Given the description of an element on the screen output the (x, y) to click on. 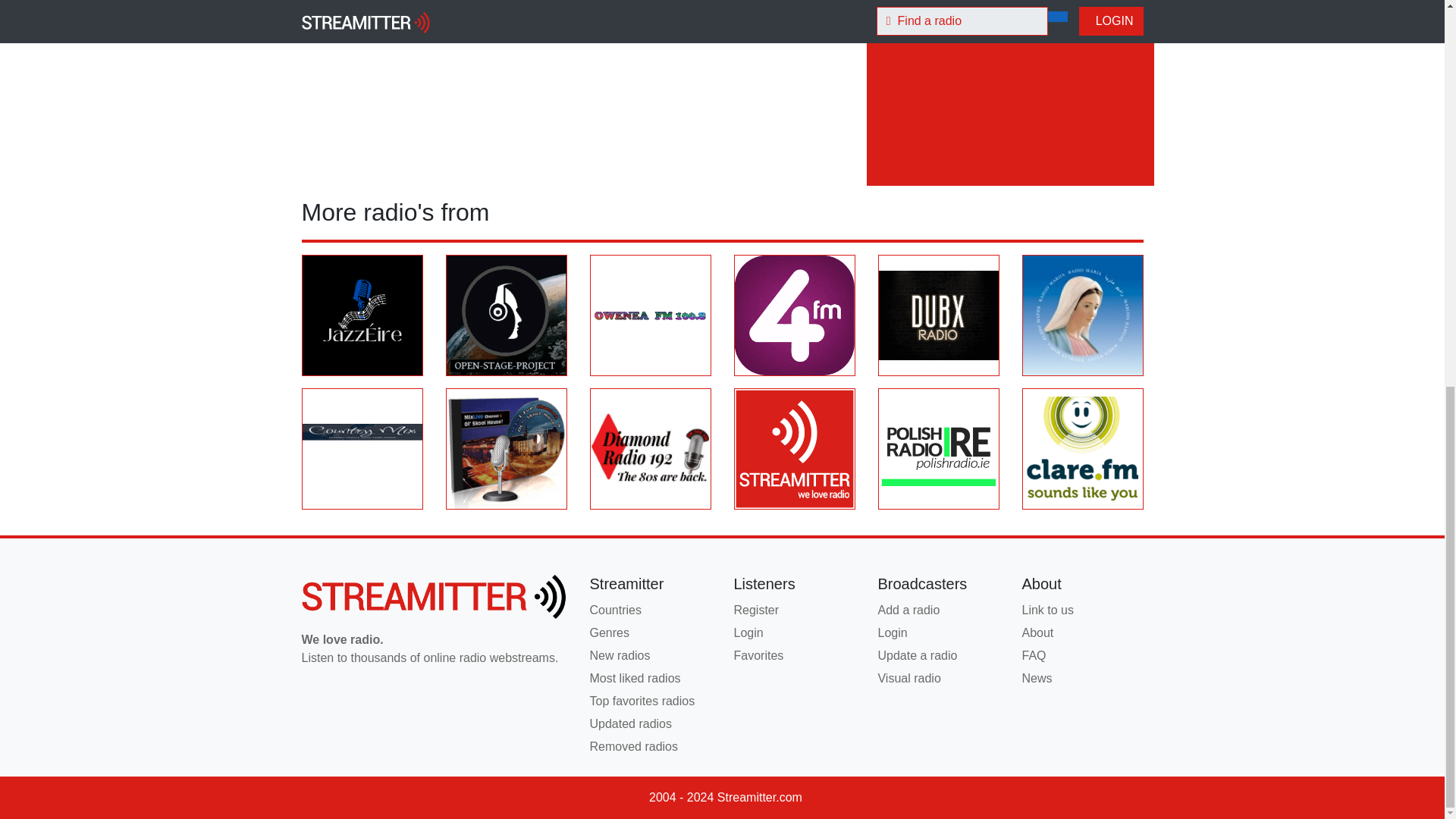
Open-Stage on MixLive.ie (505, 315)
Advertisement (1009, 83)
